Given the description of an element on the screen output the (x, y) to click on. 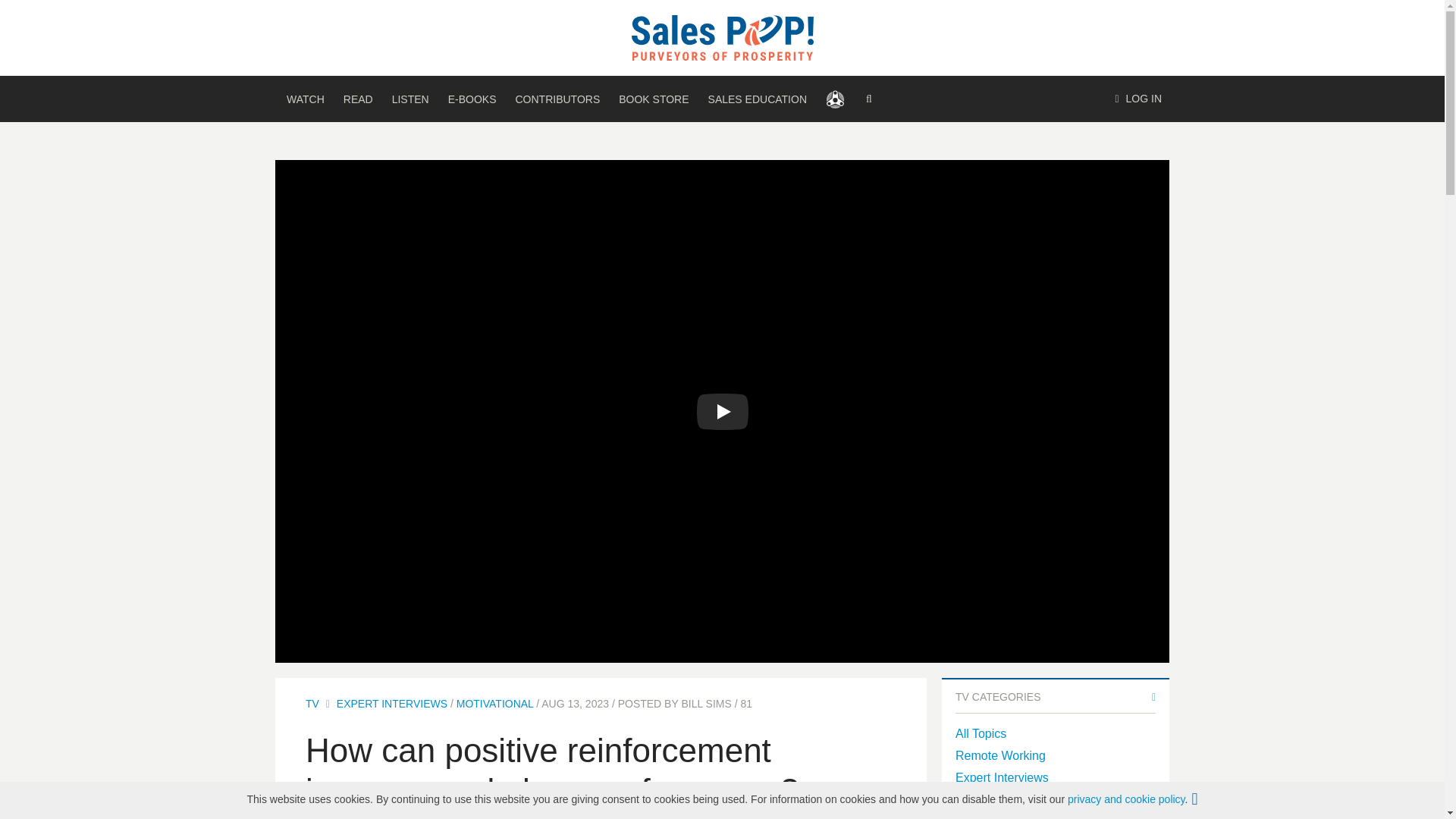
LISTEN (410, 99)
E-BOOKS (472, 99)
SALES EDUCATION (756, 99)
Play (721, 411)
BILL SIMS (705, 703)
BOOK STORE (653, 99)
LOG IN (1138, 99)
MOTIVATIONAL (495, 703)
READ (358, 99)
TV (311, 703)
